Given the description of an element on the screen output the (x, y) to click on. 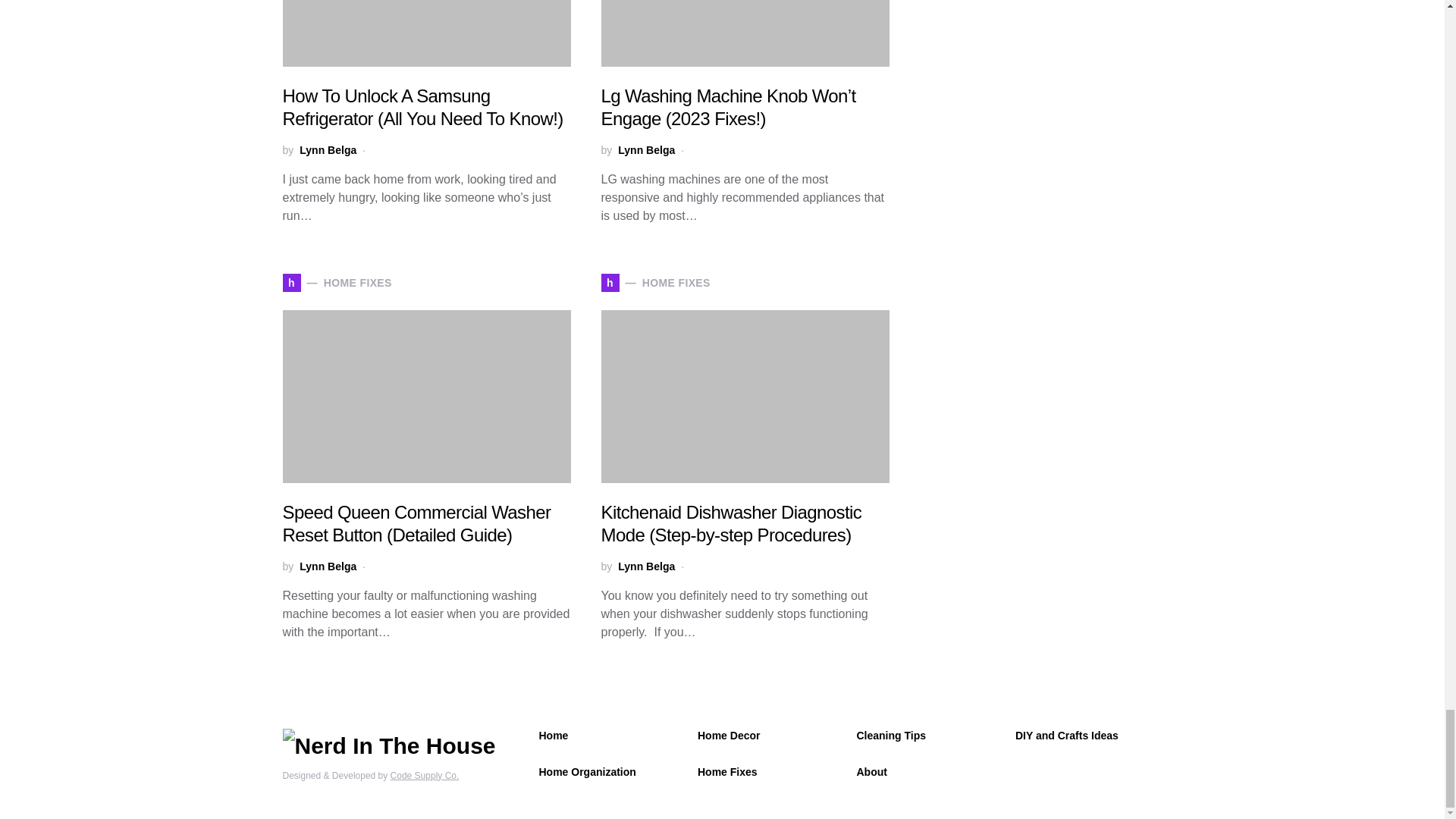
View all posts by Lynn Belga (646, 566)
View all posts by Lynn Belga (327, 566)
View all posts by Lynn Belga (327, 150)
View all posts by Lynn Belga (646, 150)
